Given the description of an element on the screen output the (x, y) to click on. 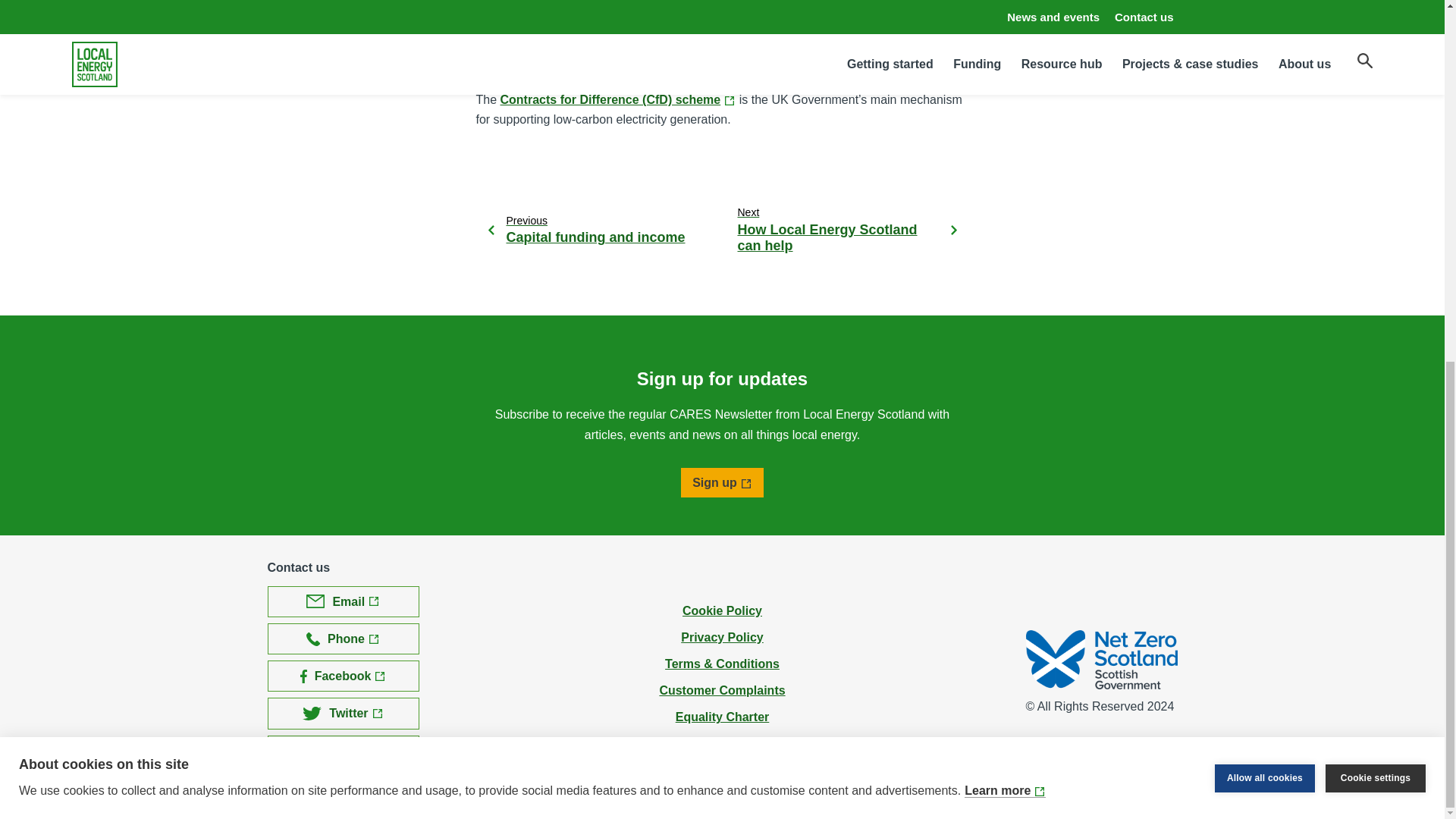
Cookie settings (1374, 154)
Learn more (1004, 210)
Allow all cookies (1264, 177)
